Given the description of an element on the screen output the (x, y) to click on. 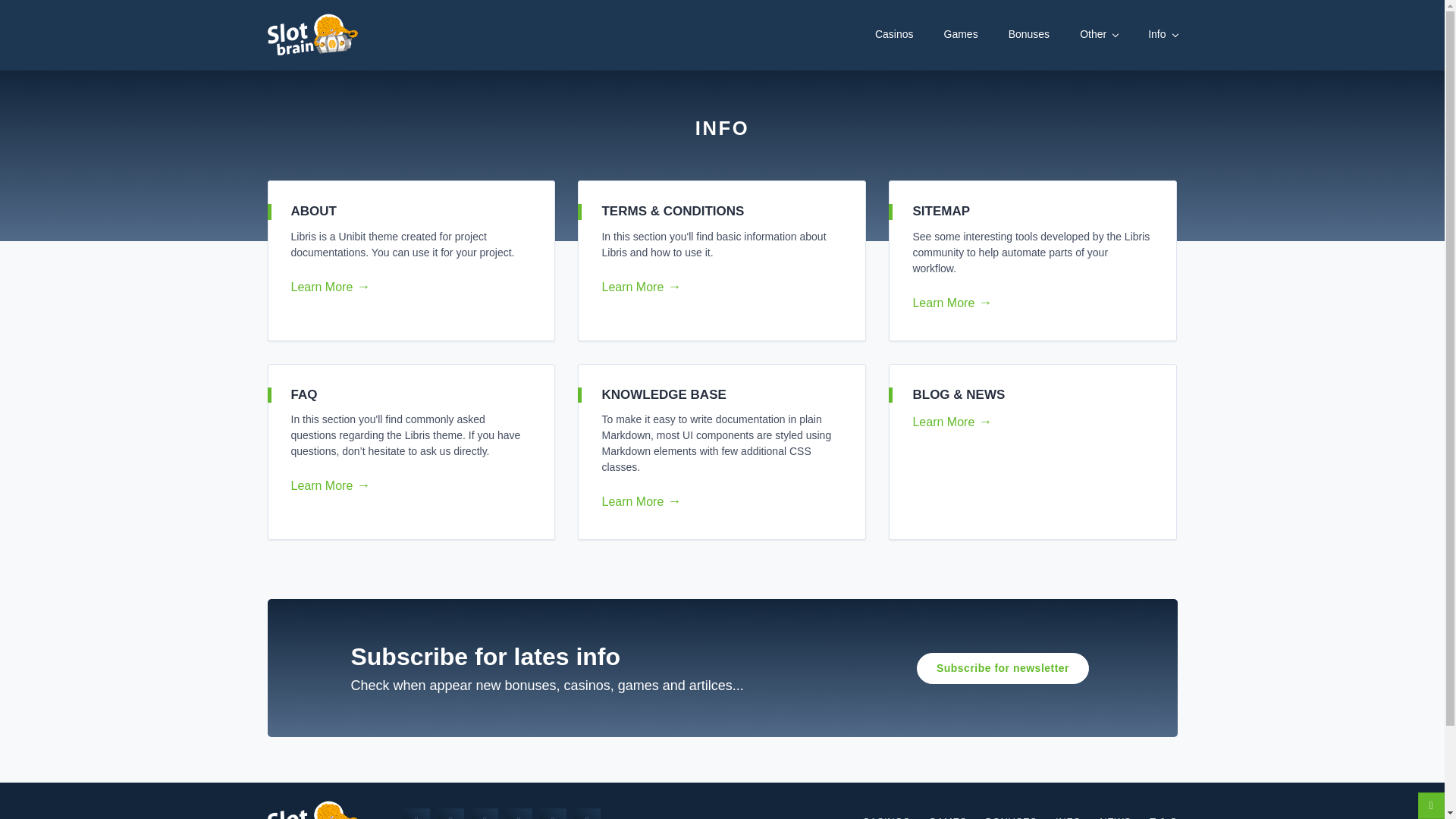
Info (1162, 34)
Learn More (1026, 422)
email (518, 813)
Learn More (405, 485)
Casinos (894, 34)
CASINOS (885, 814)
ABOUT (313, 210)
twitter (451, 813)
Learn More (715, 287)
Other (1099, 34)
Info (1162, 34)
SITEMAP (940, 210)
Subscribe for newsletter (1002, 667)
facebook (416, 813)
Bonuses (1029, 34)
